Given the description of an element on the screen output the (x, y) to click on. 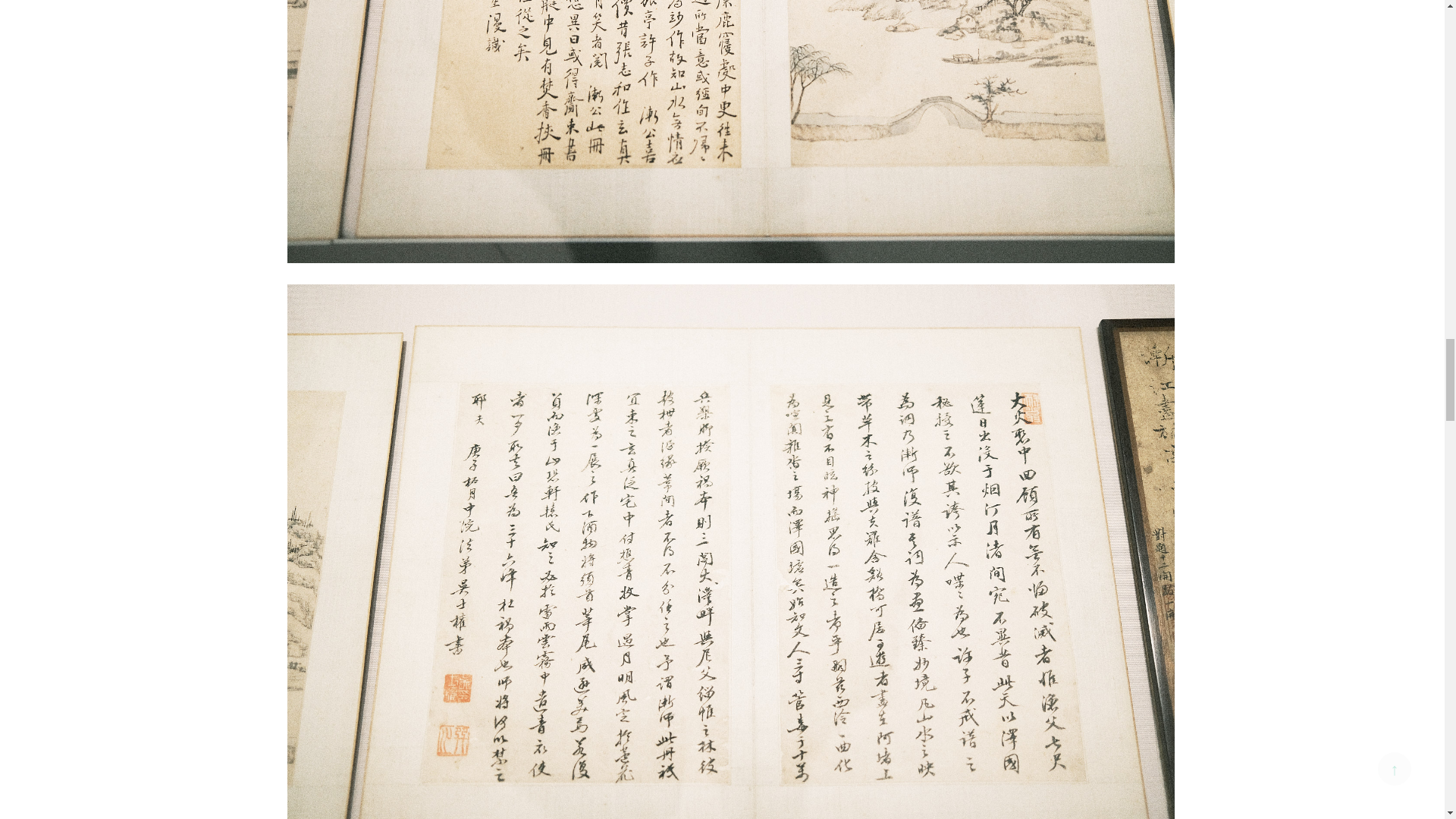
Landscapes by Hongren. (729, 578)
